Given the description of an element on the screen output the (x, y) to click on. 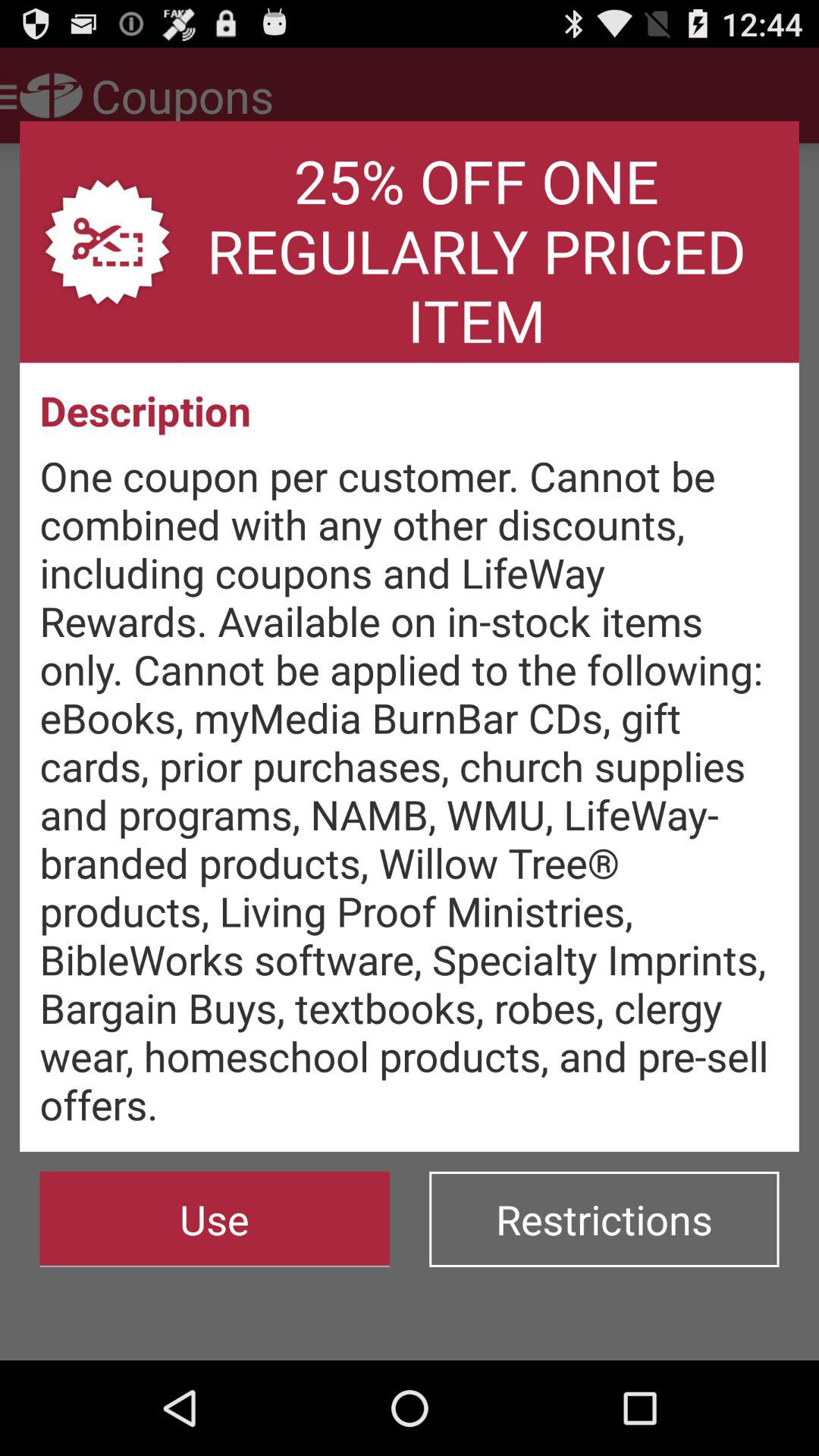
select the item next to the use (604, 1219)
